Given the description of an element on the screen output the (x, y) to click on. 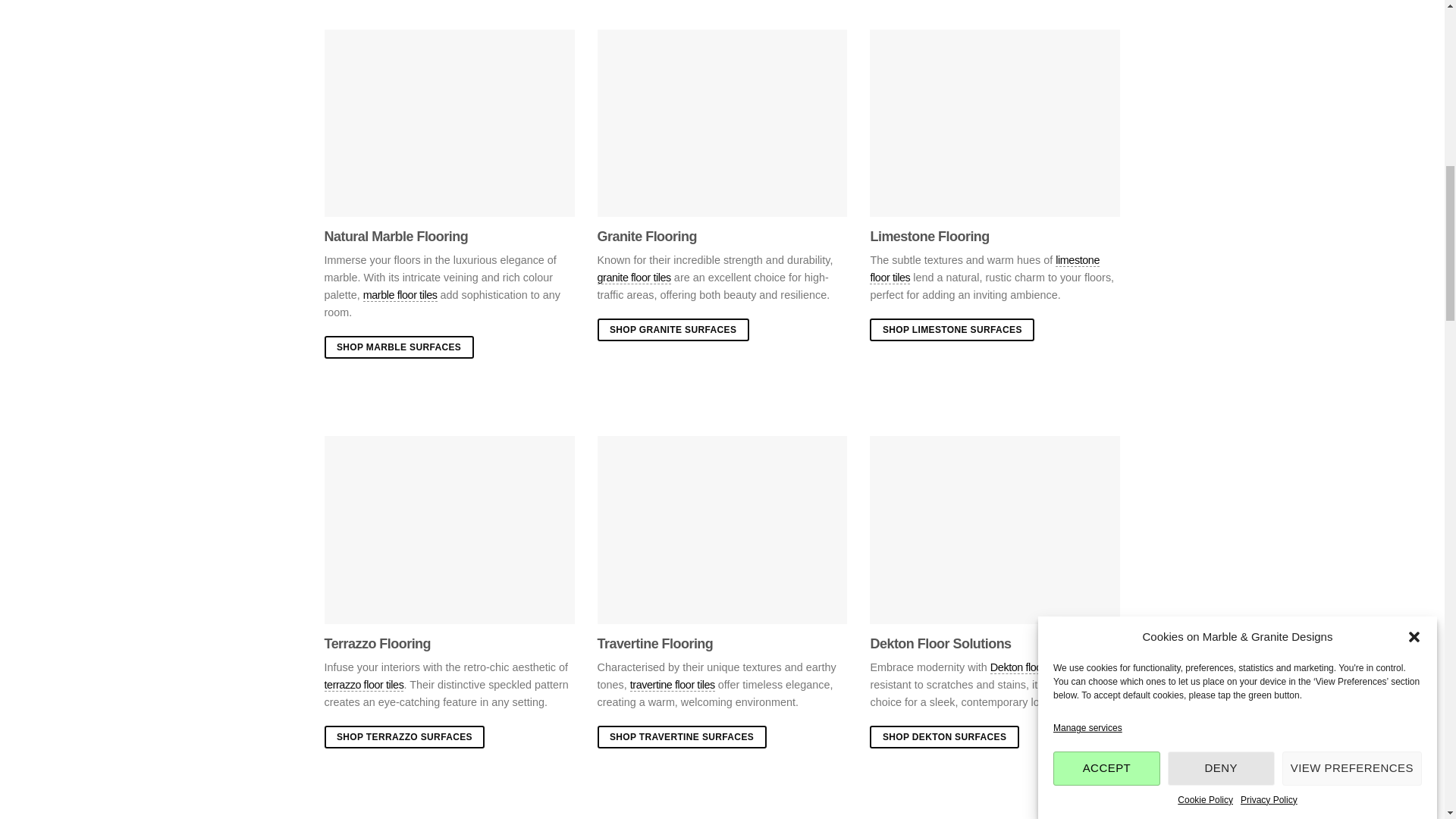
Manage services (1087, 214)
DENY (1221, 123)
VIEW PREFERENCES (1352, 110)
Cookie Policy (1205, 76)
ACCEPT (1106, 148)
Privacy Policy (1268, 55)
